Given the description of an element on the screen output the (x, y) to click on. 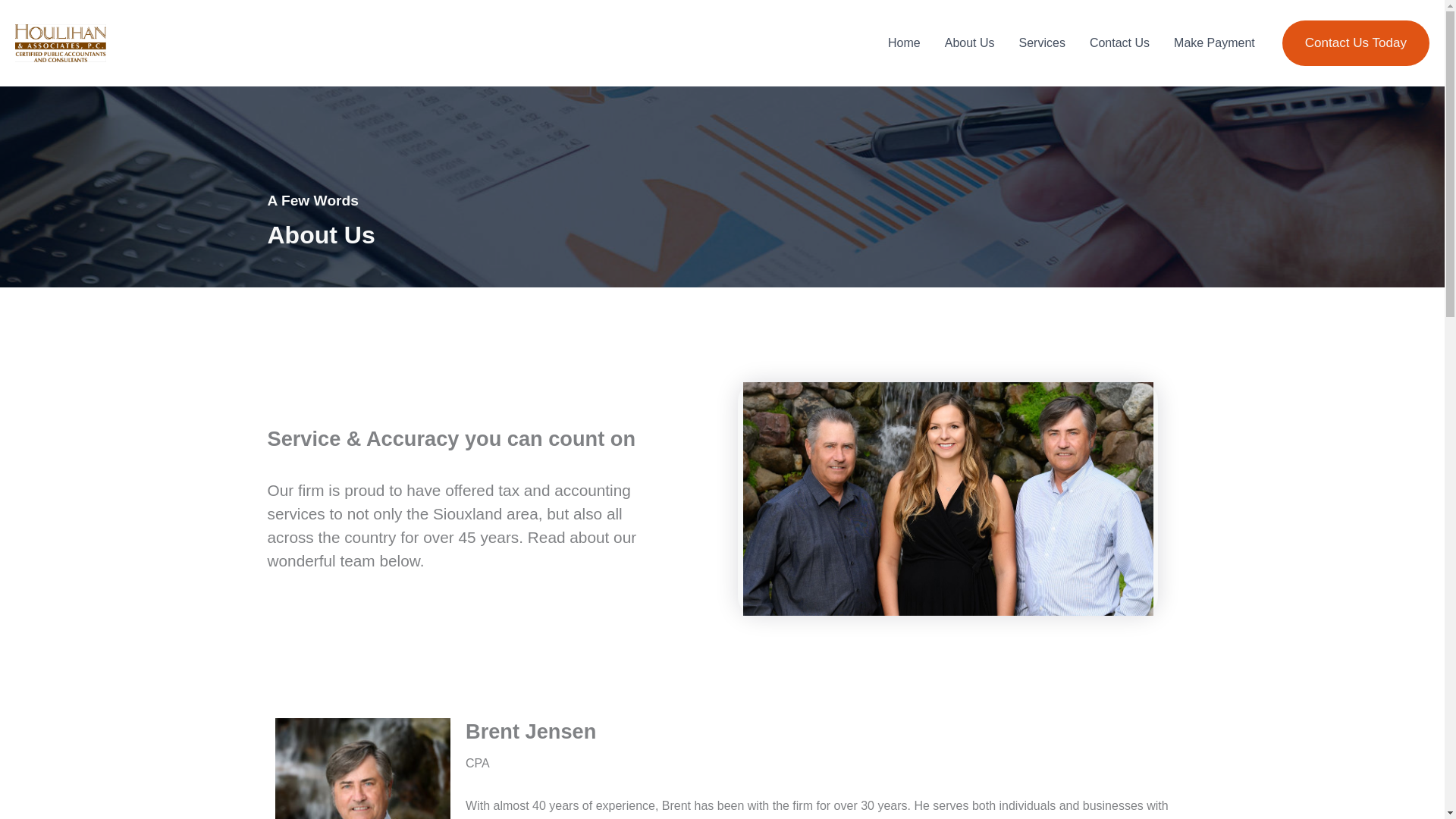
Make Payment (1213, 42)
About Us (970, 42)
Home (904, 42)
Contact Us Today (1355, 43)
Contact Us (1119, 42)
Services (1042, 42)
